Given the description of an element on the screen output the (x, y) to click on. 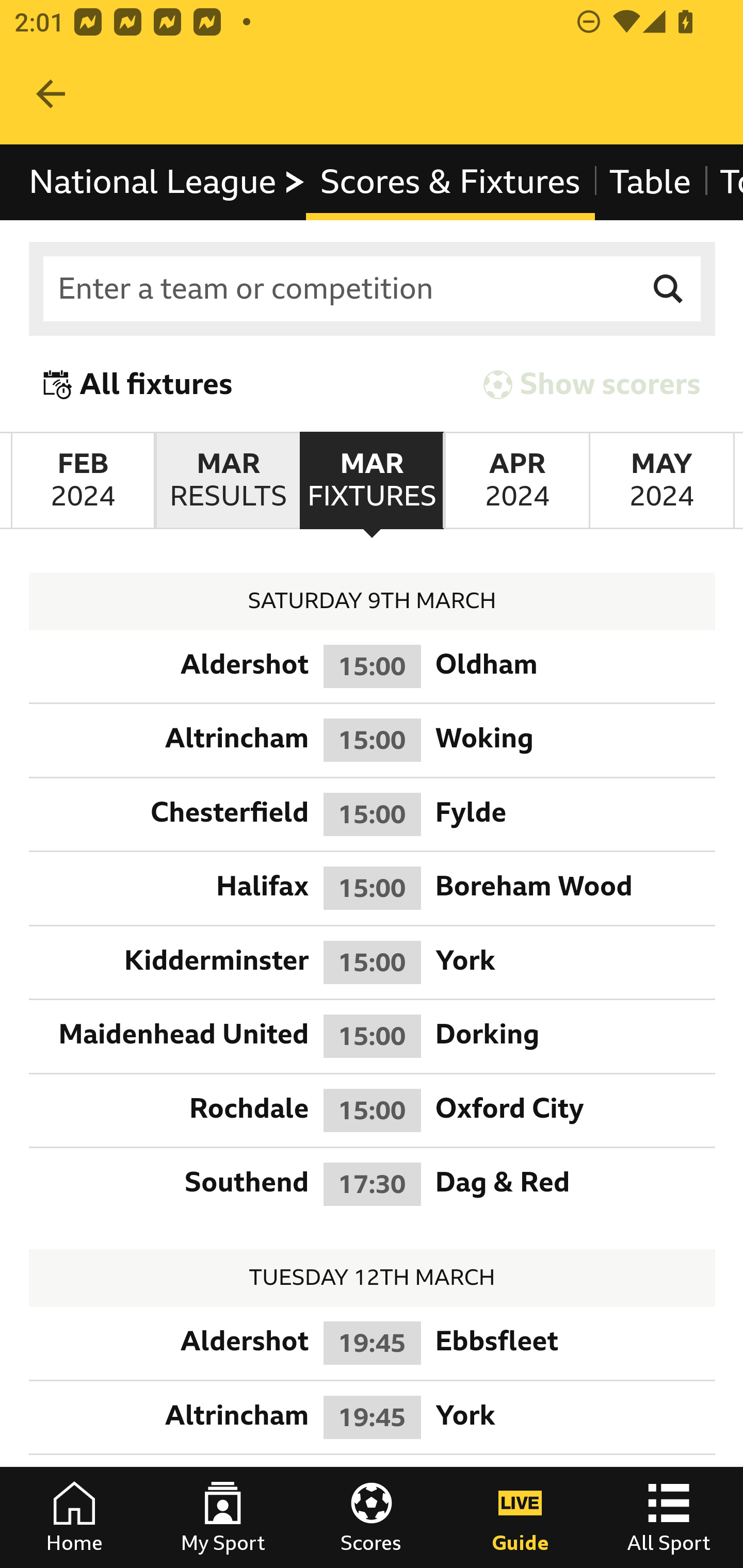
Navigate up (50, 93)
National League  (167, 181)
Scores & Fixtures (449, 181)
Table (649, 181)
Search (669, 289)
All fixtures (137, 383)
Show scorers (591, 383)
February2024 February 2024 (83, 480)
MarchRESULTS March RESULTS (227, 480)
MarchFIXTURES, Selected March FIXTURES , Selected (371, 480)
April2024 April 2024 (516, 480)
May2024 May 2024 (661, 480)
Home (74, 1517)
My Sport (222, 1517)
Scores (371, 1517)
All Sport (668, 1517)
